Given the description of an element on the screen output the (x, y) to click on. 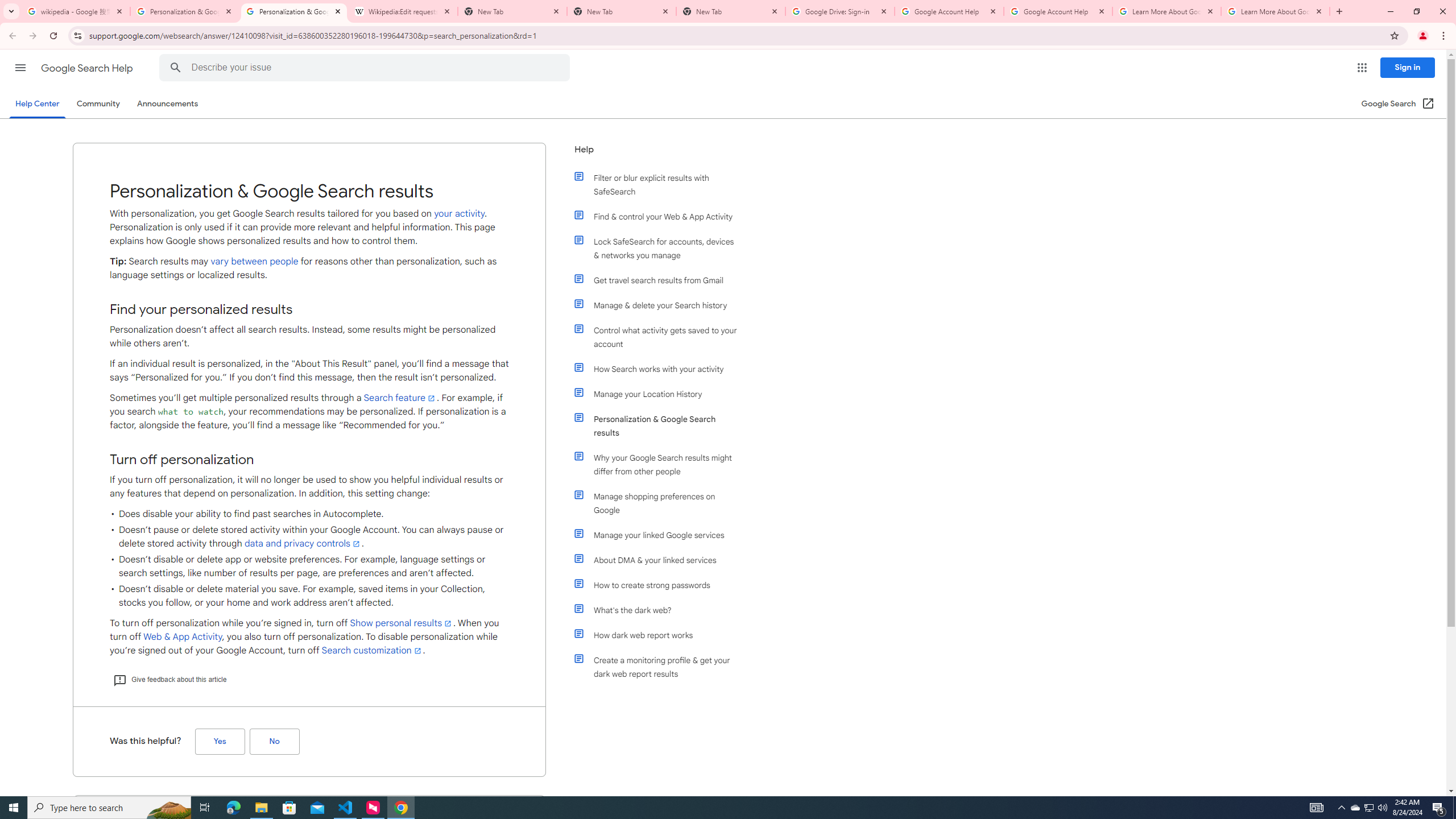
Search feature (400, 397)
Help Center (36, 103)
Manage your Location History (661, 394)
Yes (Was this helpful?) (219, 741)
Google Drive: Sign-in (839, 11)
How to create strong passwords (661, 584)
Main menu (20, 67)
Google Account Help (1058, 11)
Google Search Help (87, 68)
